Given the description of an element on the screen output the (x, y) to click on. 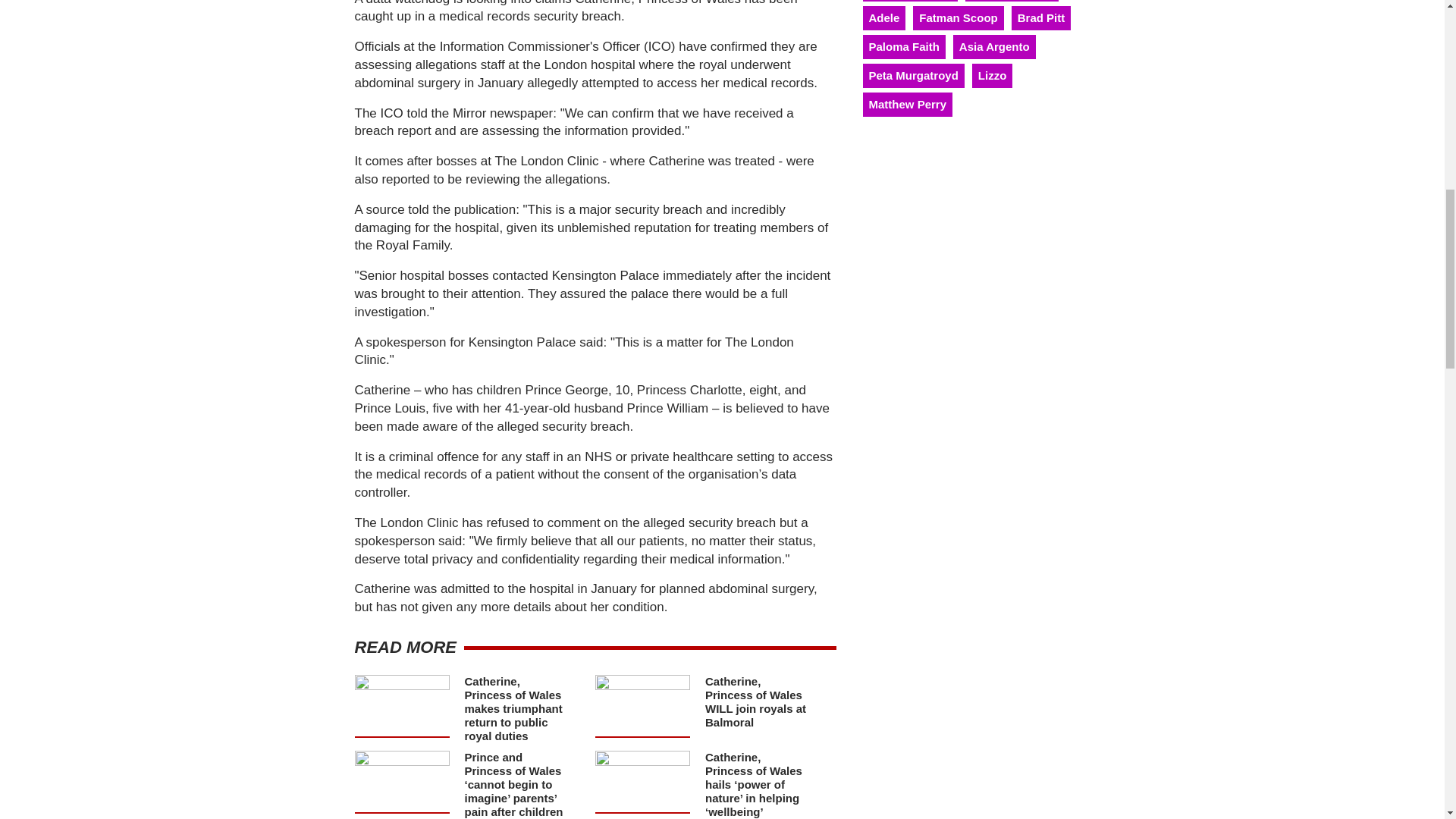
Catherine, Princess of Wales WILL join royals at Balmoral (755, 701)
